Given the description of an element on the screen output the (x, y) to click on. 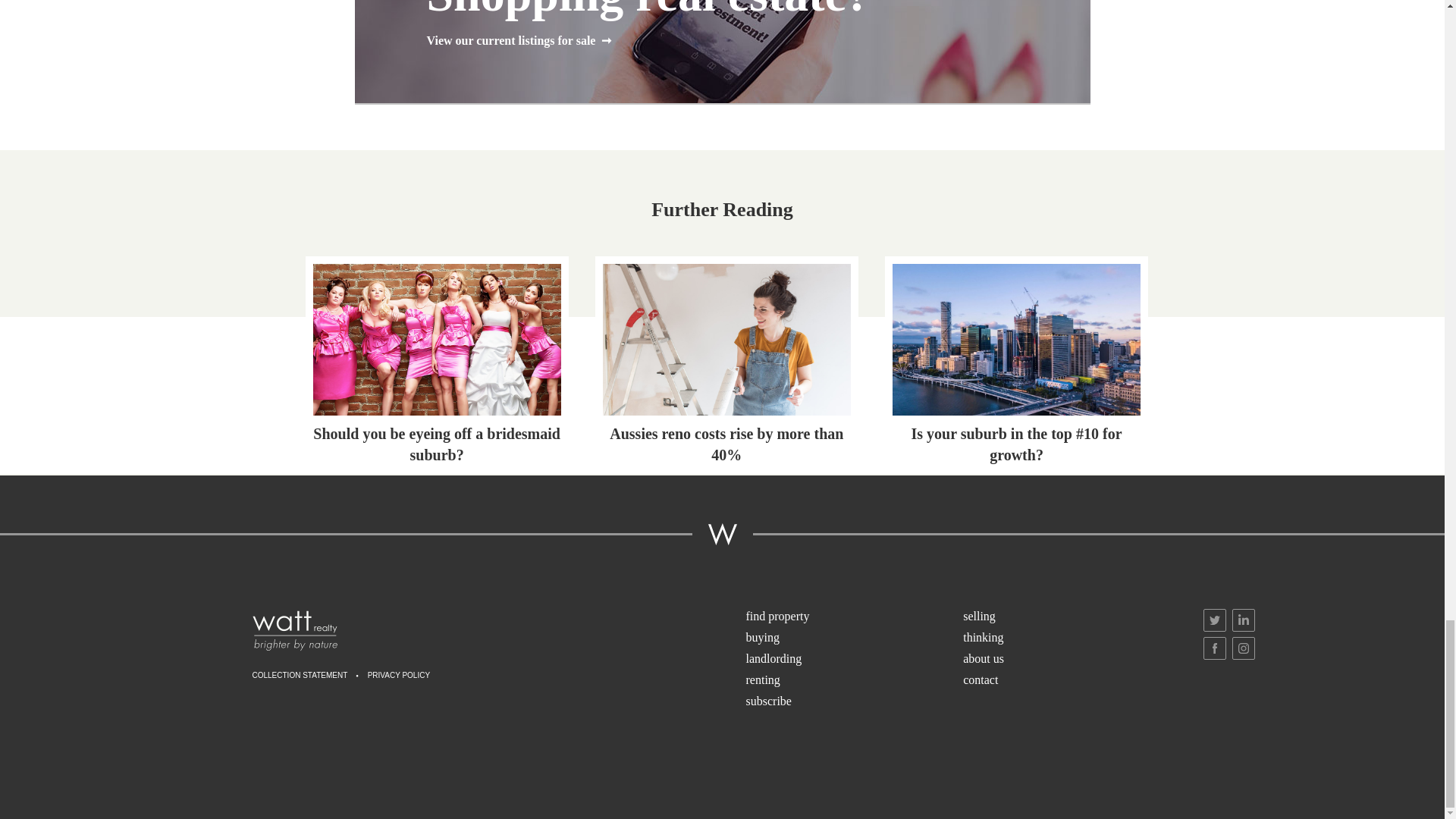
selling (1069, 617)
Should you be eyeing off a bridesmaid suburb? (436, 364)
thinking (1069, 638)
buying (852, 638)
find property (852, 617)
